Given the description of an element on the screen output the (x, y) to click on. 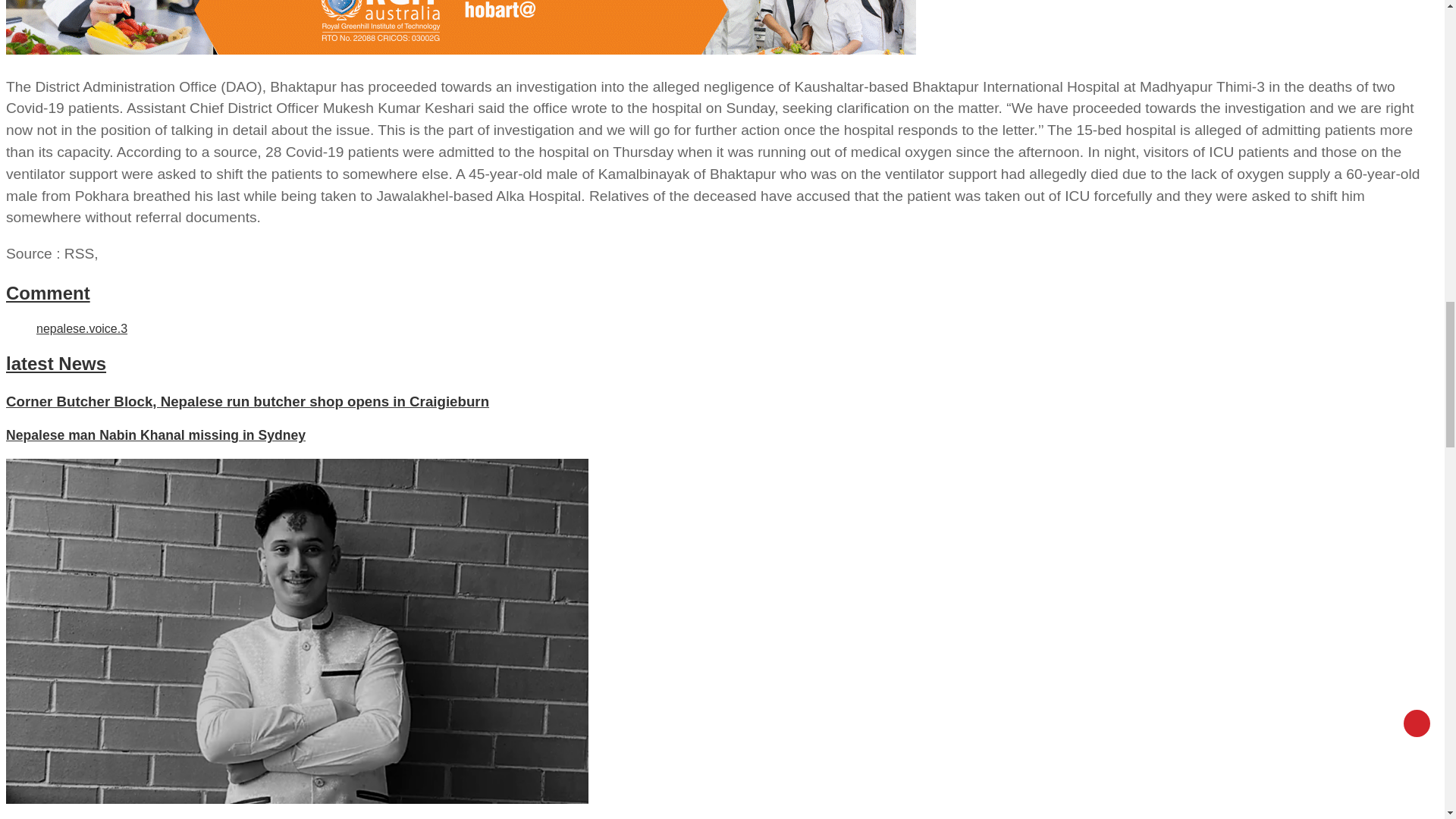
nepalese.voice.3 (82, 328)
latest News (55, 362)
Comment (47, 292)
